Given the description of an element on the screen output the (x, y) to click on. 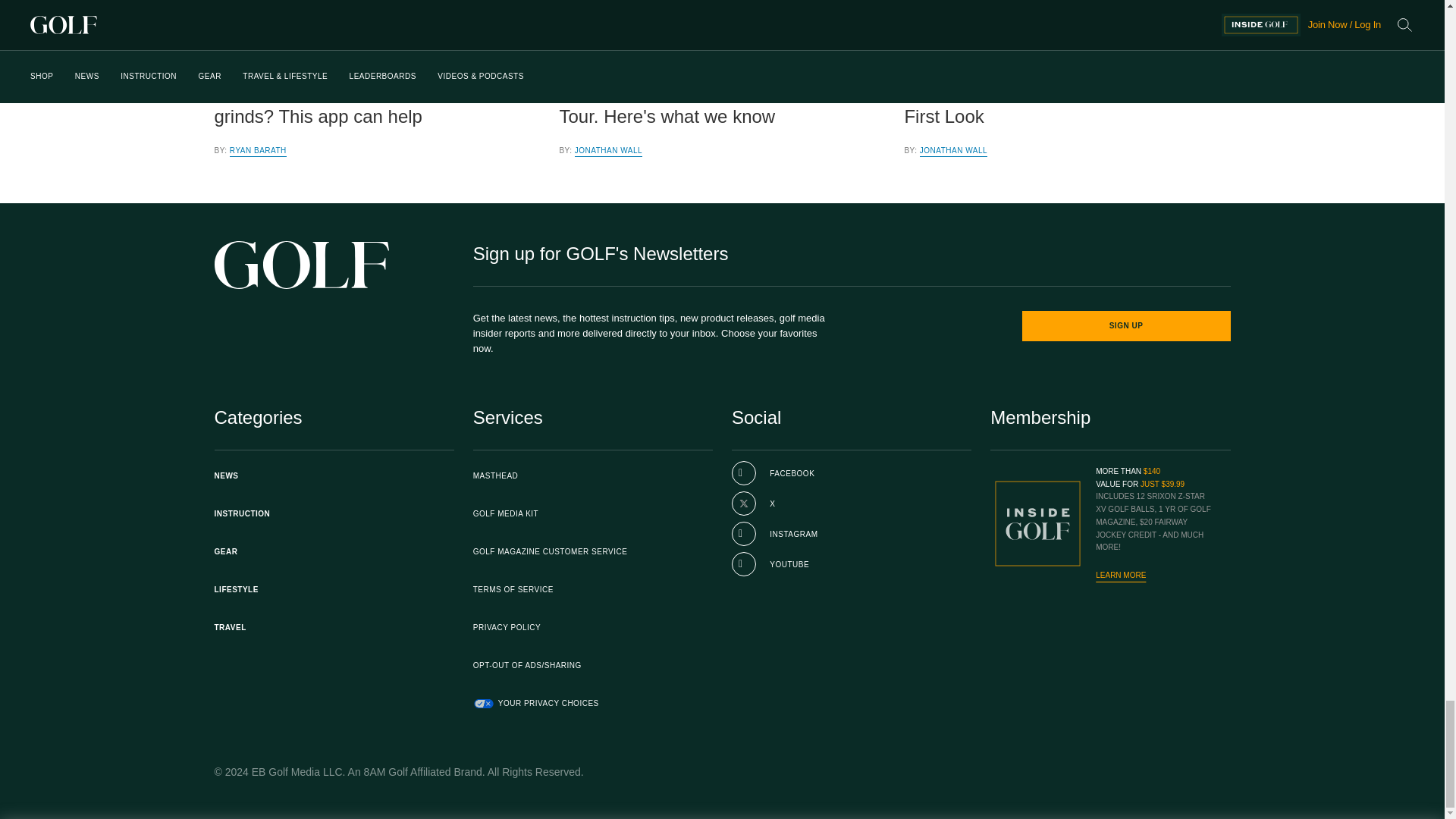
Golf logo. Back to home. (301, 264)
